Given the description of an element on the screen output the (x, y) to click on. 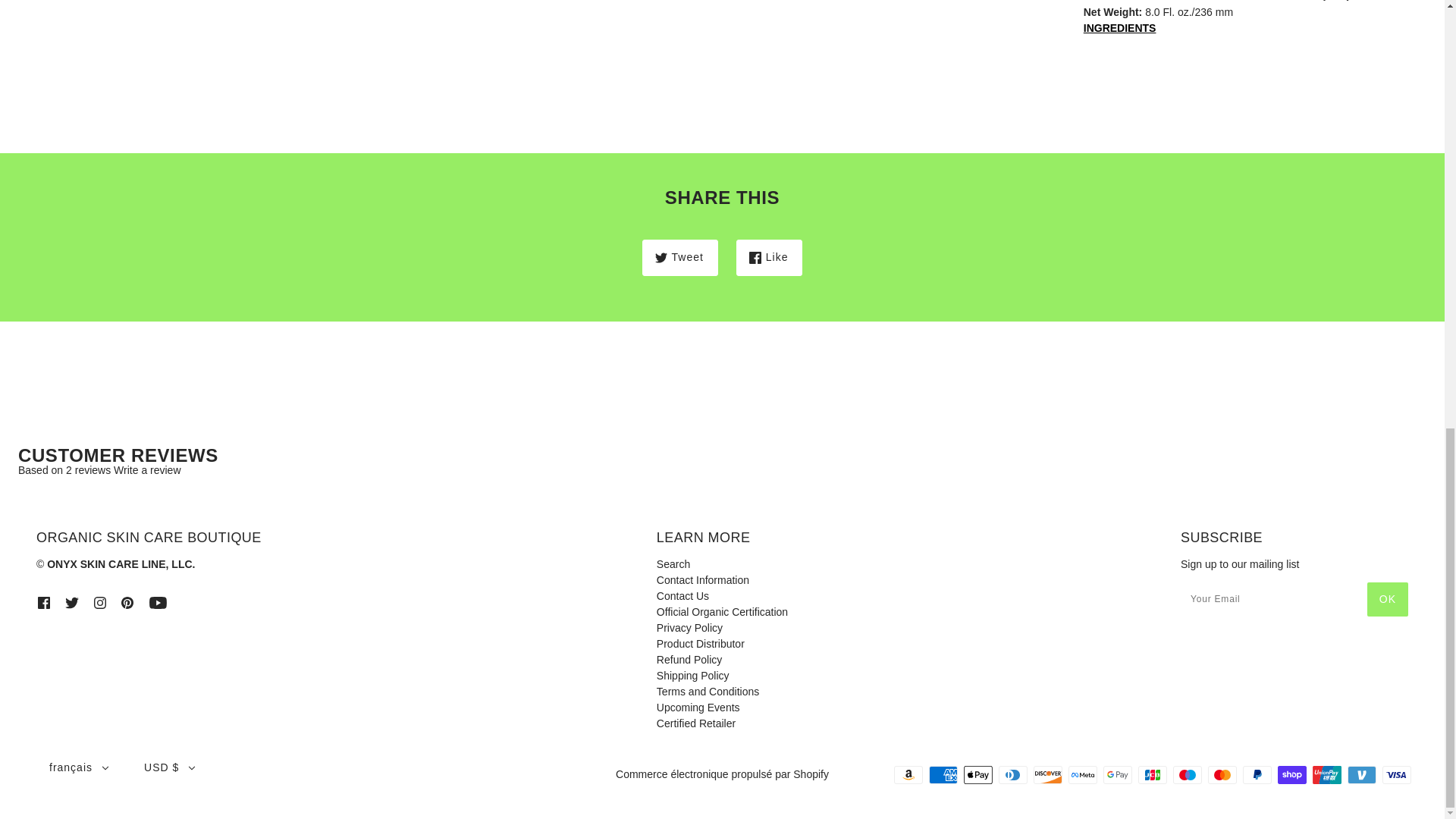
Official Organic Certification  (721, 612)
Refund Policy (689, 659)
Privacy Policy (689, 627)
Ok (1387, 599)
Contact Information (702, 580)
Product Distributor (700, 644)
Ingredients (1245, 44)
Shipping Policy (692, 675)
Search (673, 563)
Contact Us (682, 595)
